Given the description of an element on the screen output the (x, y) to click on. 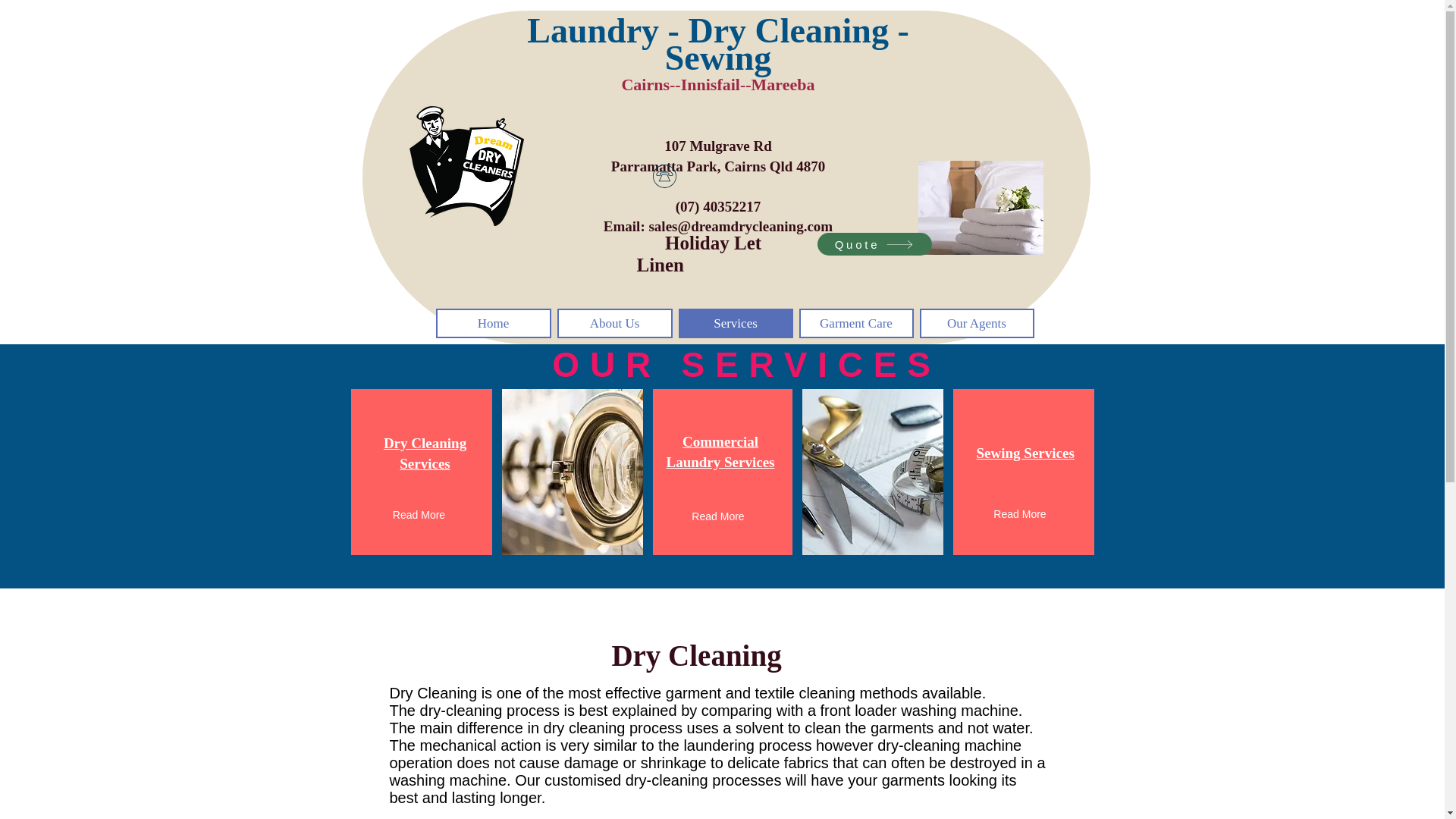
About Us (719, 452)
Quote (613, 323)
Services (873, 243)
Our Agents (735, 323)
Sewing Services (975, 323)
Read More (1025, 453)
Read More (718, 517)
Garment Care (1019, 515)
Read More (856, 323)
